Given the description of an element on the screen output the (x, y) to click on. 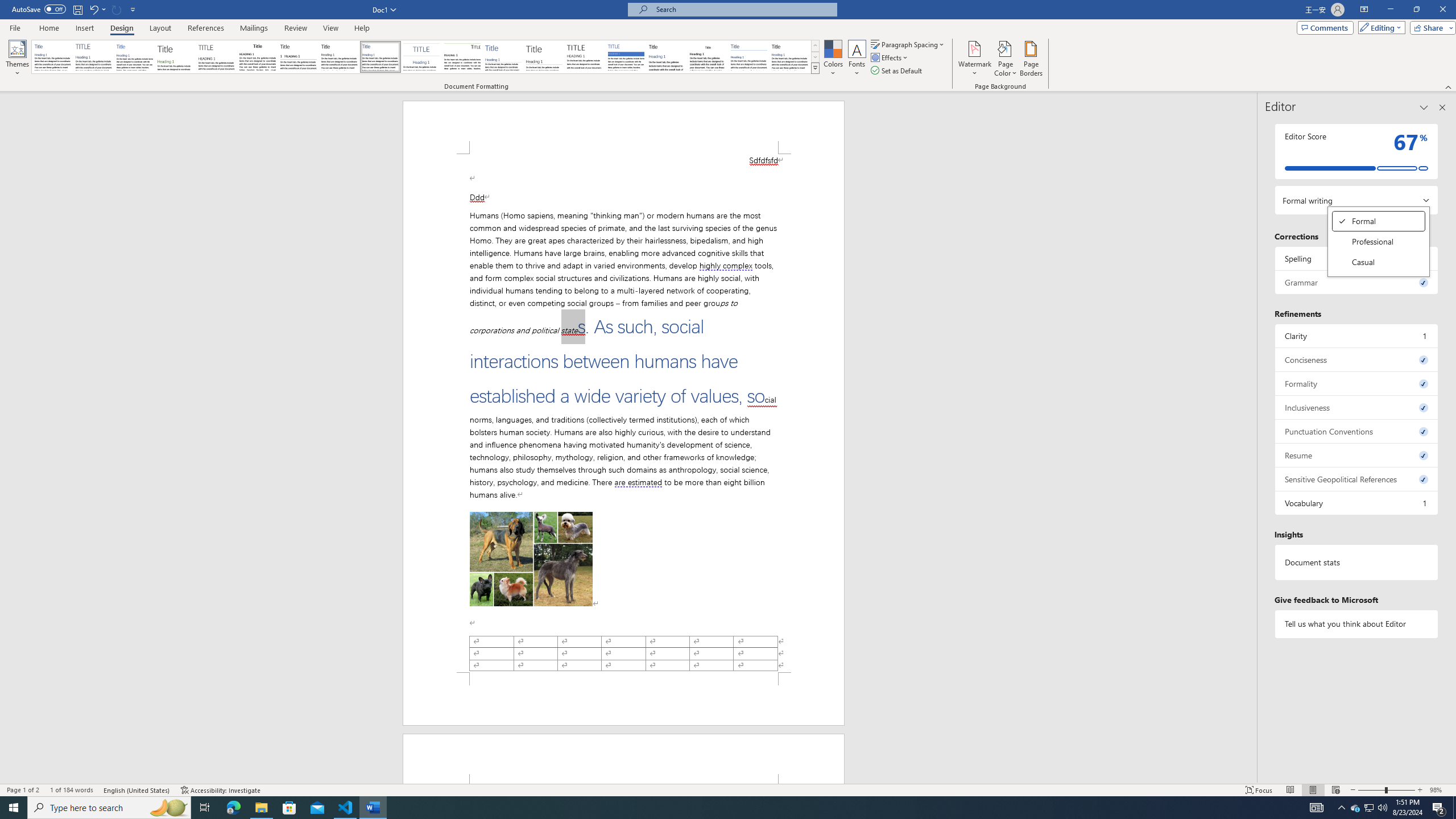
Word 2003 (707, 56)
Word 2013 (790, 56)
Black & White (Numbered) (298, 56)
Page Number Page 1 of 2 (1378, 262)
Clarity, 1 issue. Press space or enter to review items. (22, 790)
Shaded (1356, 335)
